Given the description of an element on the screen output the (x, y) to click on. 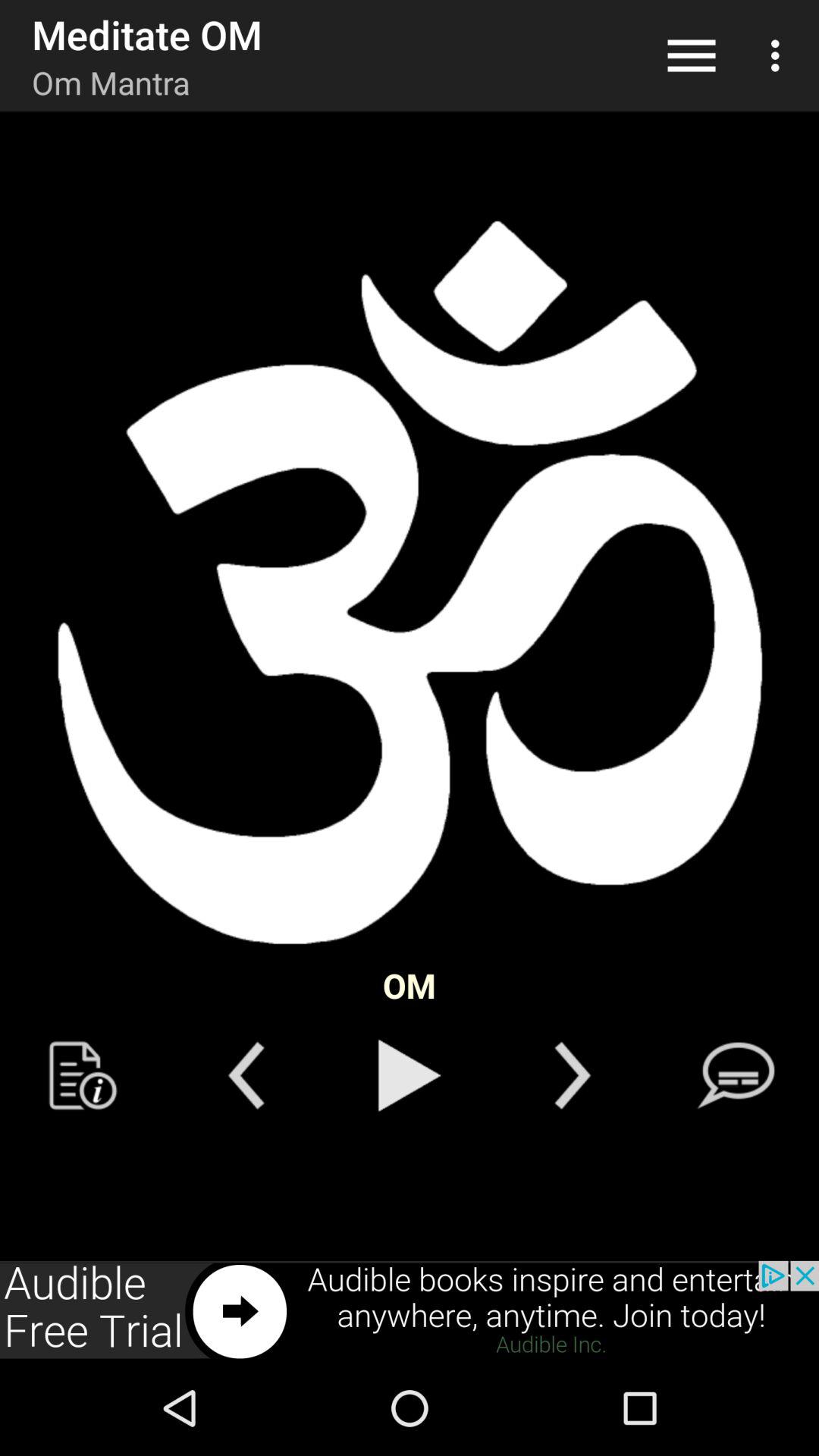
icon button (82, 1075)
